Given the description of an element on the screen output the (x, y) to click on. 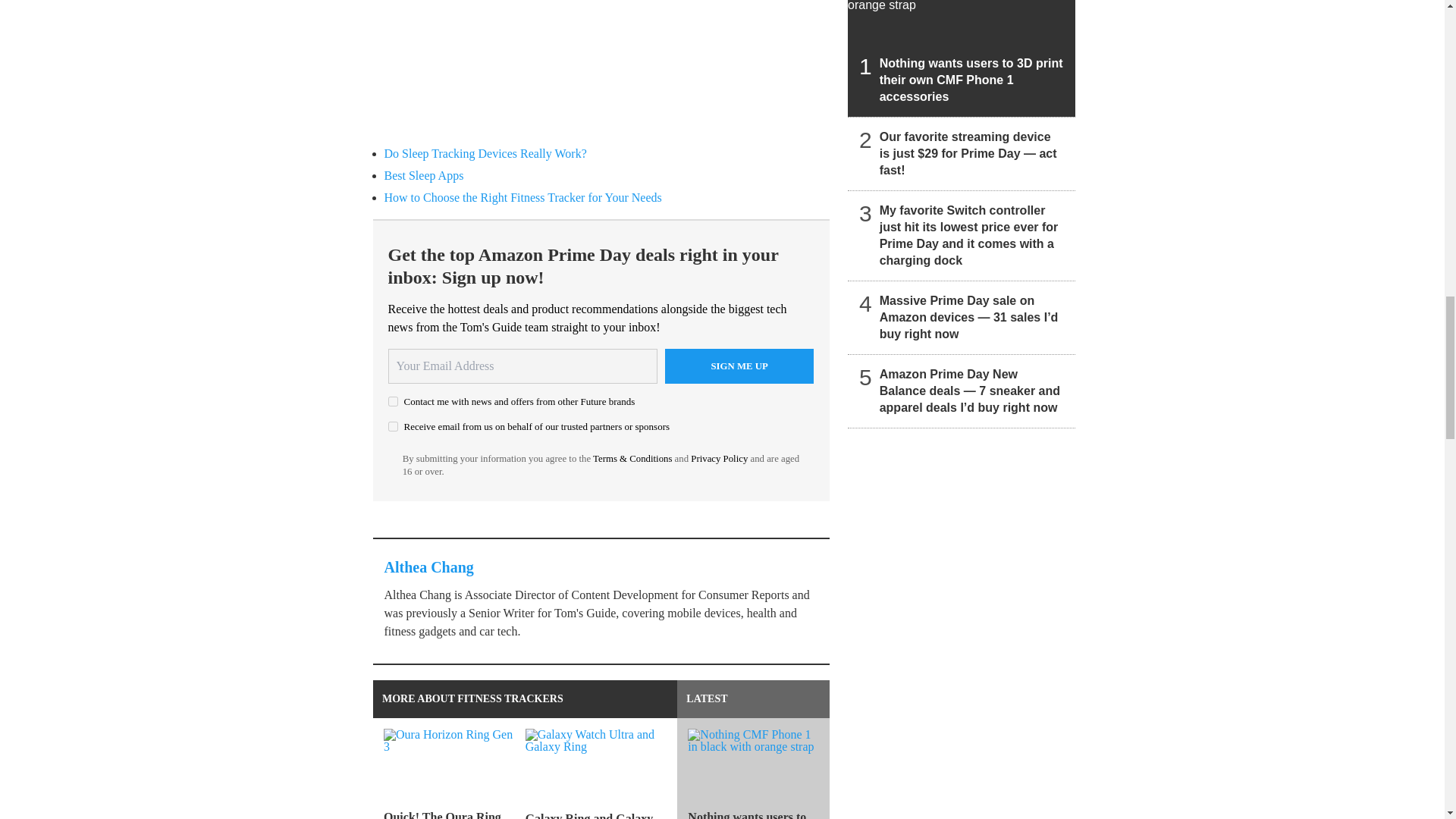
Sign me up (739, 366)
